Given the description of an element on the screen output the (x, y) to click on. 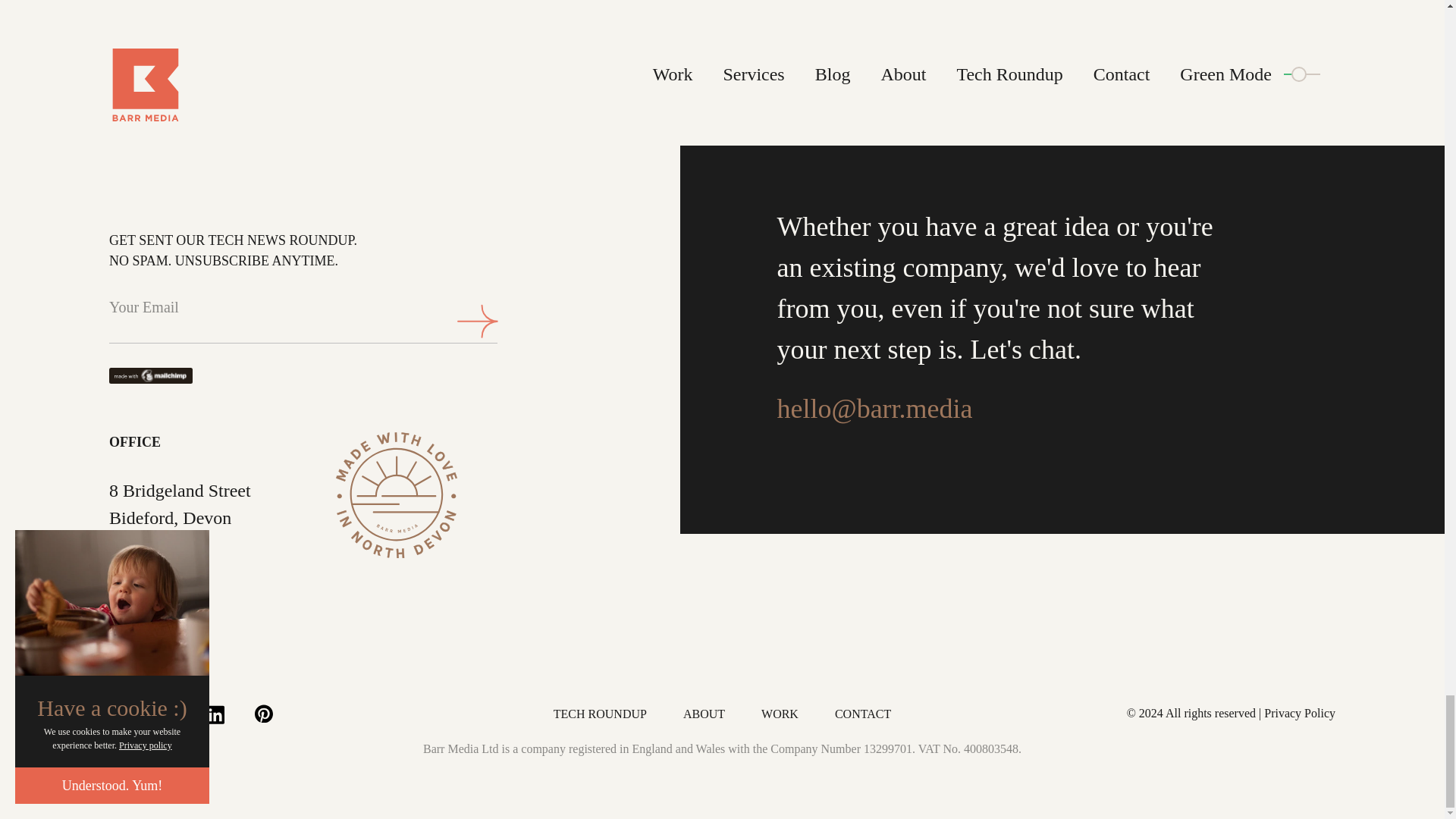
ABOUT (703, 714)
Privacy Policy (1299, 712)
WORK (779, 714)
CONTACT (862, 714)
TECH ROUNDUP (599, 714)
Mailchimp - email marketing made easy and fun (162, 375)
